Given the description of an element on the screen output the (x, y) to click on. 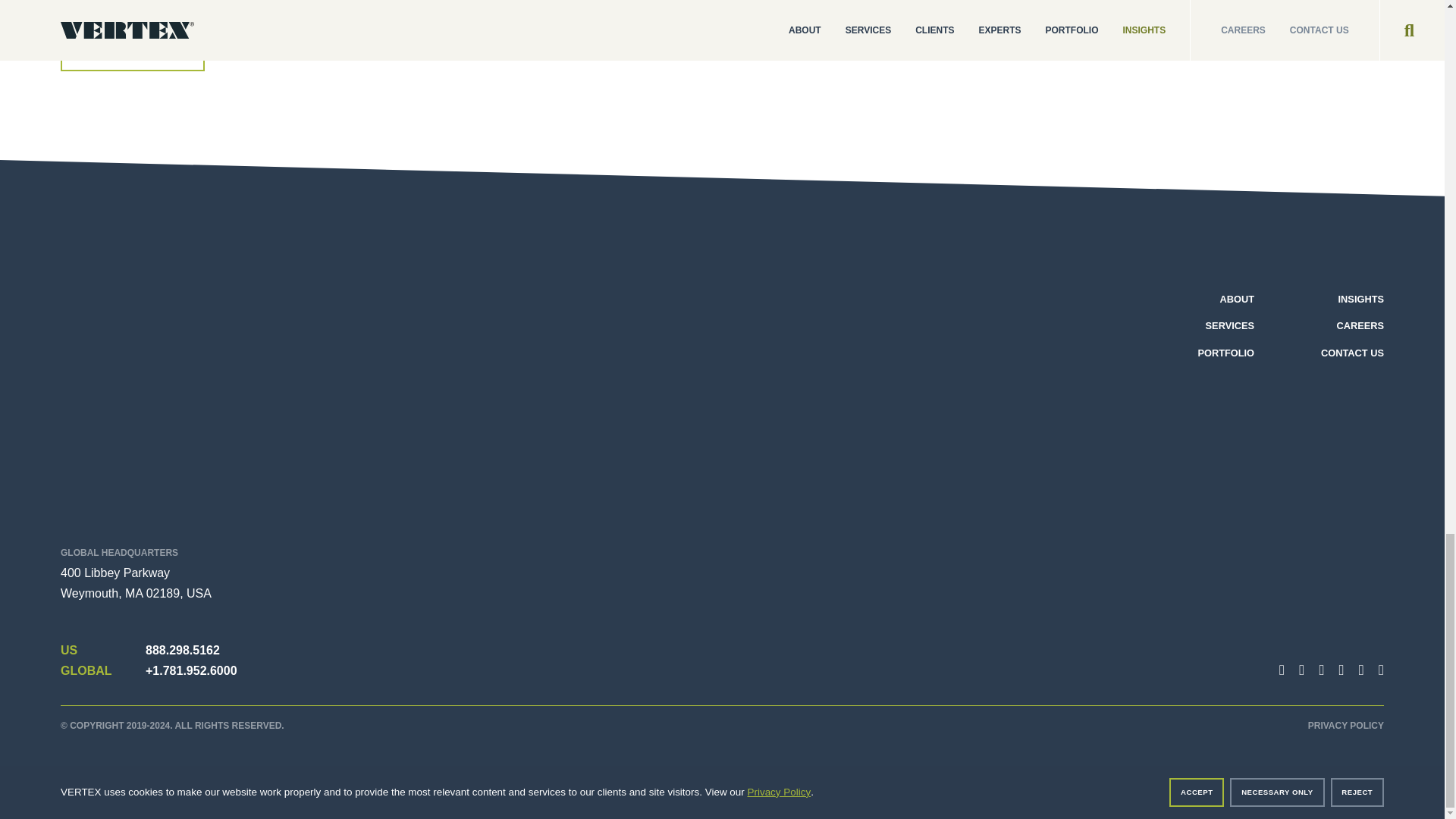
VERTEX (170, 402)
